Given the description of an element on the screen output the (x, y) to click on. 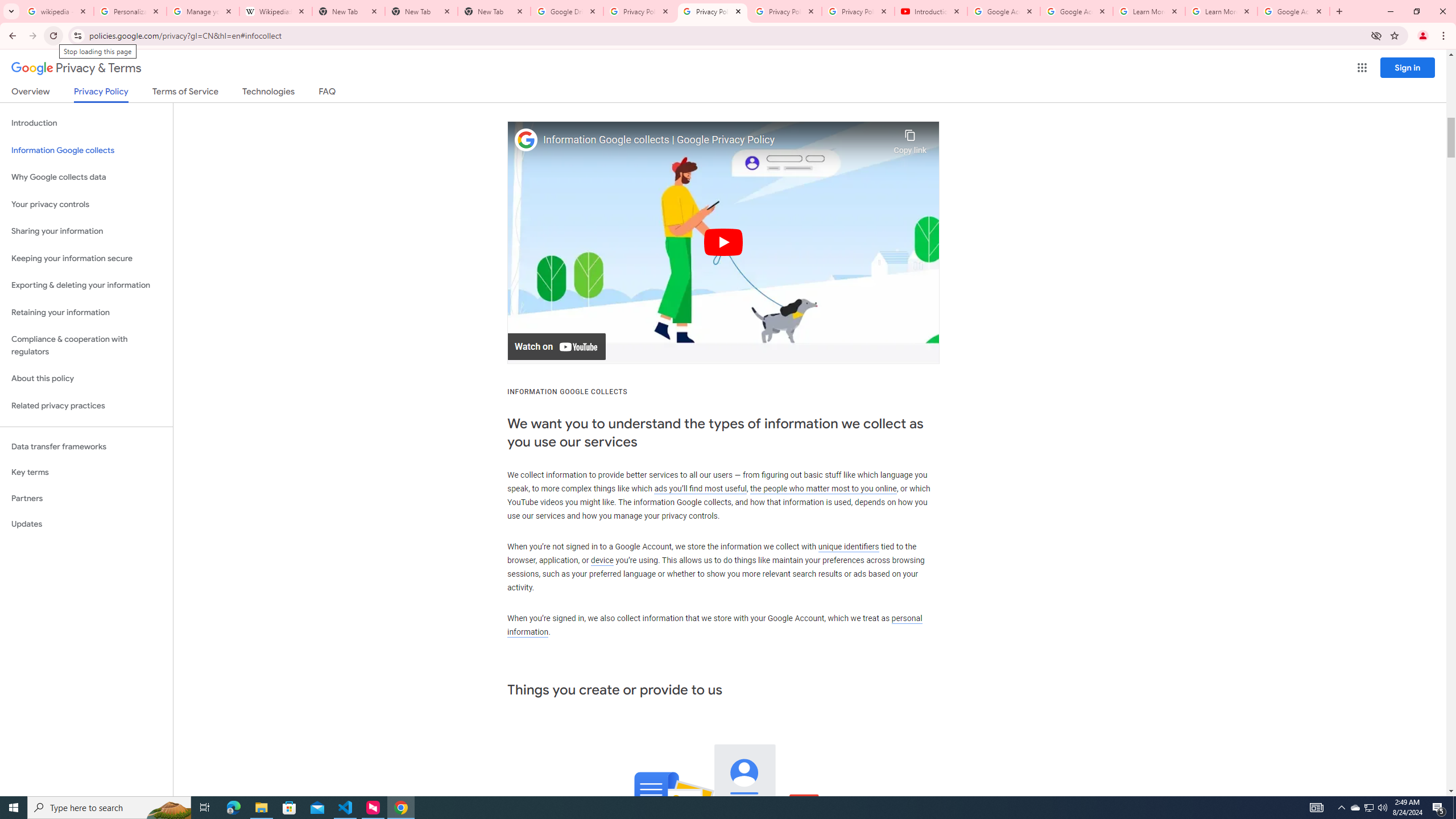
Key terms (86, 472)
Google apps (1362, 67)
FAQ (327, 93)
unique identifiers (848, 546)
Keeping your information secure (86, 258)
Retaining your information (86, 312)
Address and search bar (726, 35)
New Tab (421, 11)
Personalization & Google Search results - Google Search Help (129, 11)
Compliance & cooperation with regulators (86, 345)
